Given the description of an element on the screen output the (x, y) to click on. 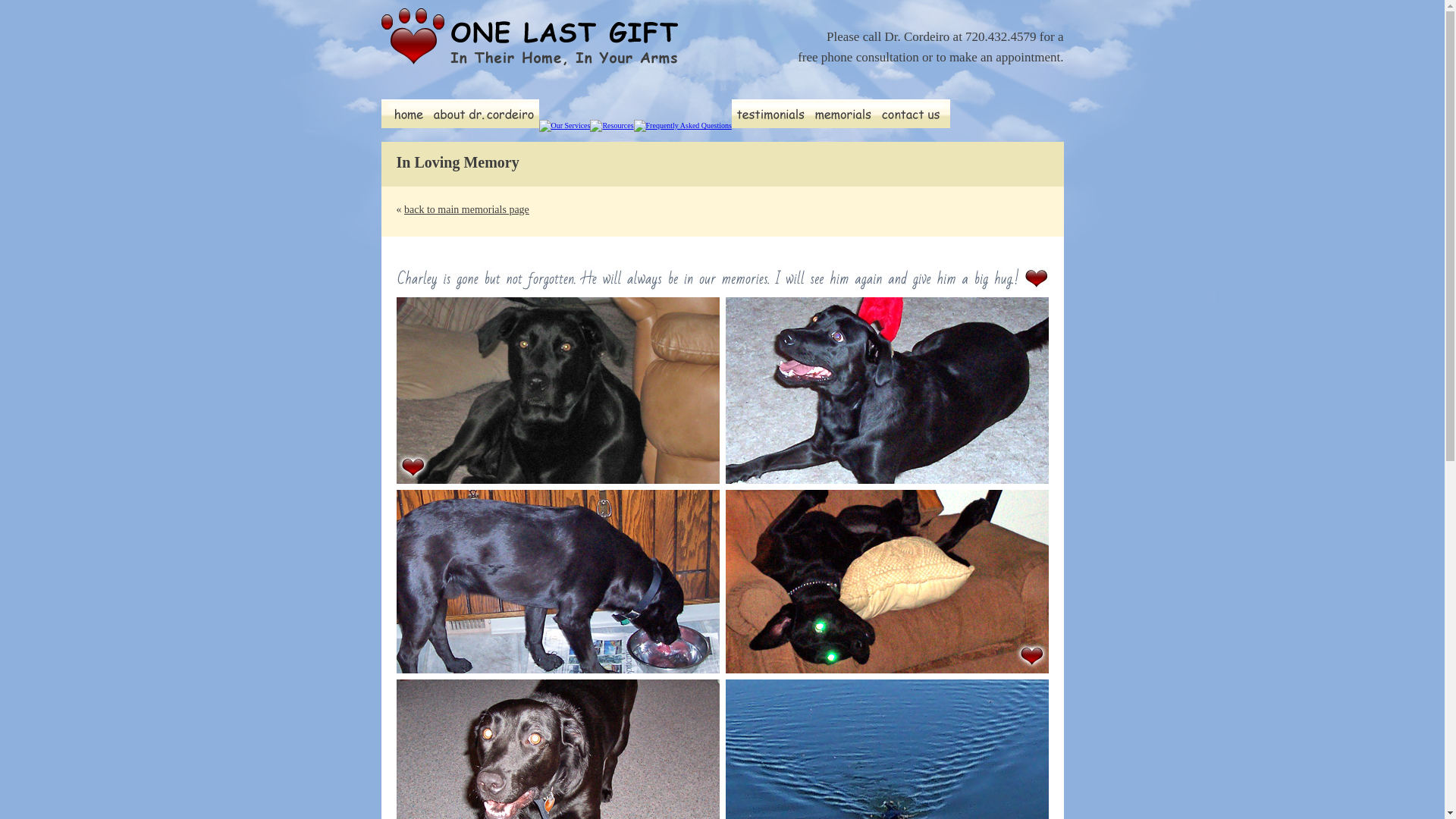
back to main memorials page Element type: text (466, 209)
